Given the description of an element on the screen output the (x, y) to click on. 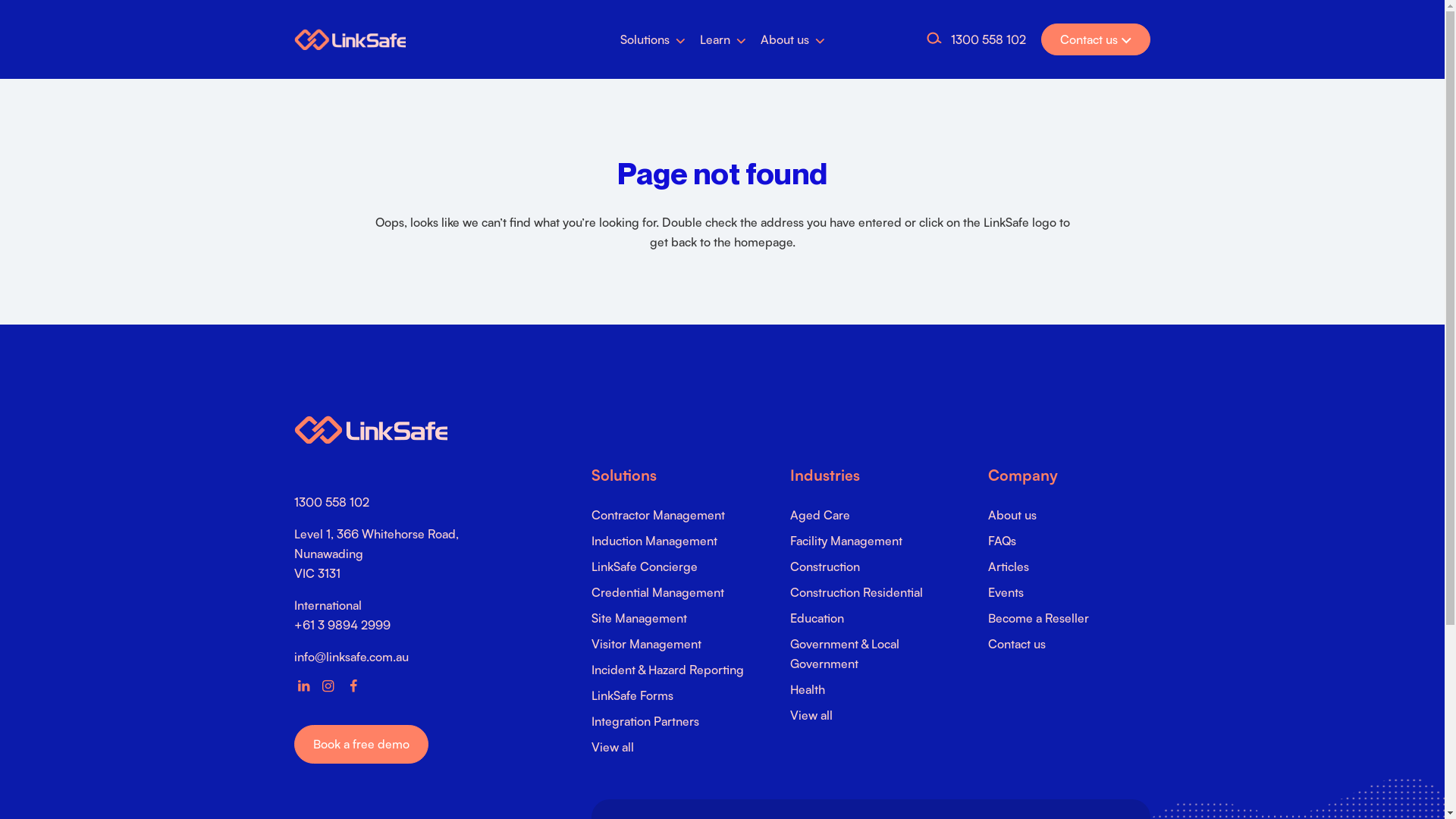
Government & Local Government Element type: text (844, 653)
Construction Residential Element type: text (856, 591)
LinkSafe Forms Element type: text (632, 694)
Articles Element type: text (1008, 566)
Events Element type: text (1005, 591)
1300 558 102 Element type: text (988, 39)
Book a free demo Element type: text (361, 743)
1300 558 102 Element type: text (331, 501)
About us Element type: text (1012, 514)
Credential Management Element type: text (657, 591)
Construction Element type: text (824, 566)
Induction Management Element type: text (654, 540)
Contact us Element type: text (1095, 38)
LinkSafe Concierge Element type: text (644, 566)
Solutions Element type: text (652, 39)
Incident & Hazard Reporting Element type: text (667, 669)
View all Element type: text (811, 714)
Become a Reseller Element type: text (1038, 617)
+61 3 9894 2999 Element type: text (342, 624)
info@linksafe.com.au Element type: text (351, 656)
LinkSafe Element type: hover (370, 429)
Integration Partners Element type: text (645, 720)
View all Element type: text (612, 746)
Contractor Management Element type: text (657, 514)
Facility Management Element type: text (846, 540)
Aged Care Element type: text (820, 514)
About us Element type: text (792, 39)
Health Element type: text (807, 688)
Learn Element type: text (722, 39)
Visitor Management Element type: text (646, 643)
Contact us Element type: text (1016, 643)
Level 1, 366 Whitehorse Road,
Nunawading
VIC 3131 Element type: text (376, 553)
FAQs Element type: text (1002, 540)
LinkSafe Element type: hover (349, 38)
Education Element type: text (817, 617)
Site Management Element type: text (639, 617)
